Given the description of an element on the screen output the (x, y) to click on. 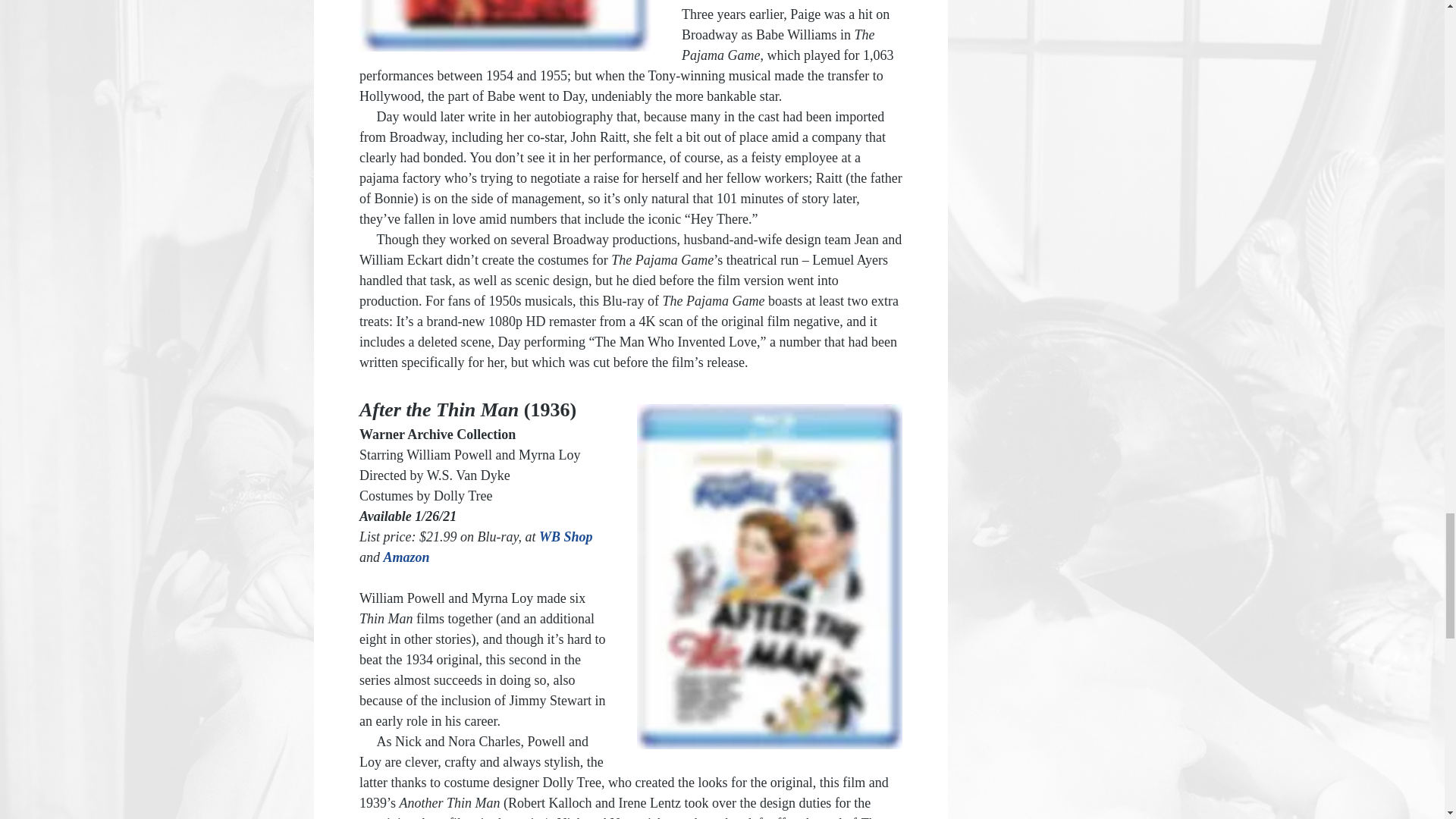
Amazon (405, 557)
WB Shop  (566, 536)
